Given the description of an element on the screen output the (x, y) to click on. 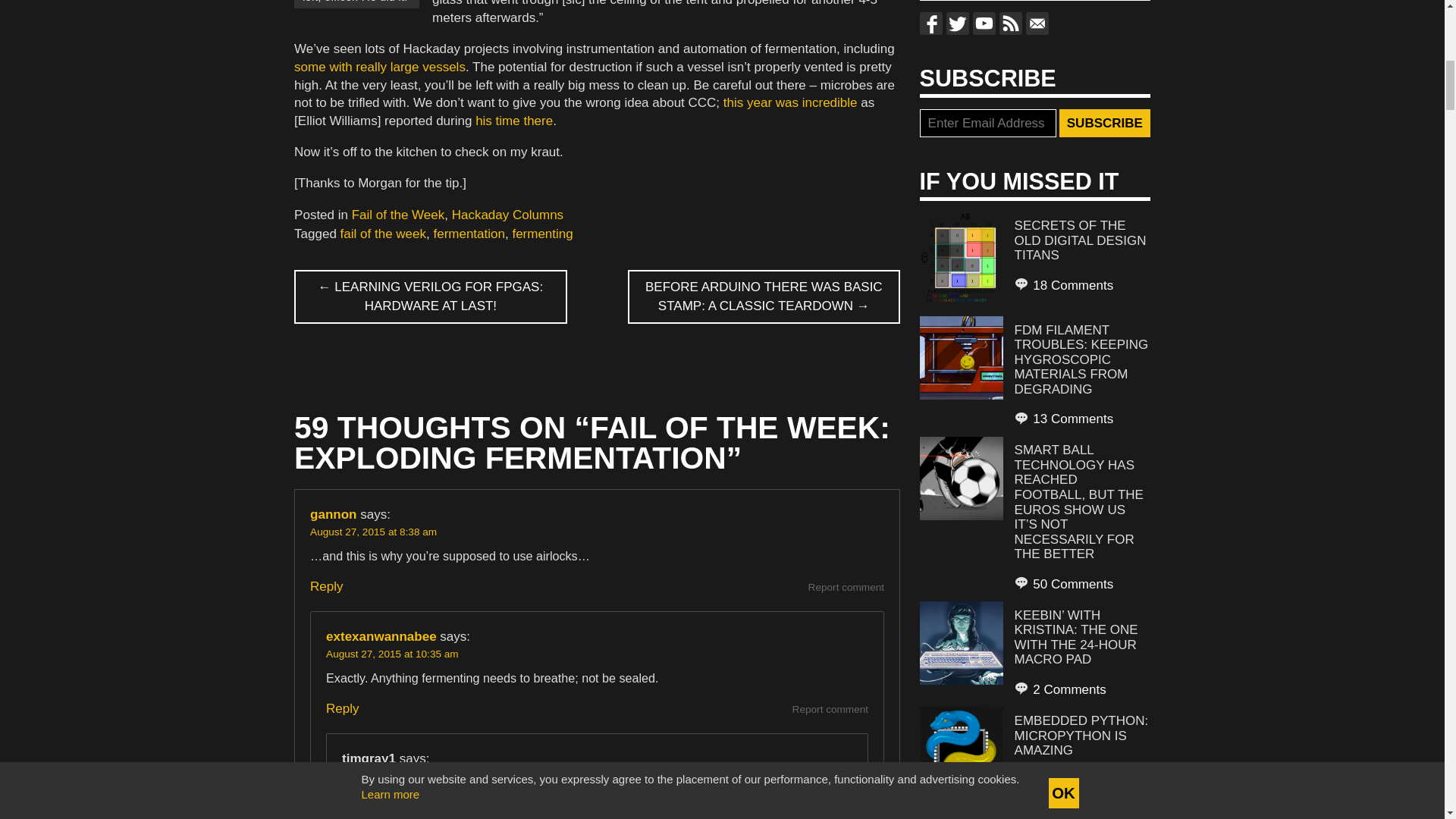
fermenting (542, 233)
this year was incredible (790, 102)
some with really large vessels (379, 66)
fermentation (468, 233)
Subscribe (1104, 123)
Fail of the Week (398, 214)
Hackaday Columns (507, 214)
his time there (514, 120)
fail of the week (383, 233)
